Given the description of an element on the screen output the (x, y) to click on. 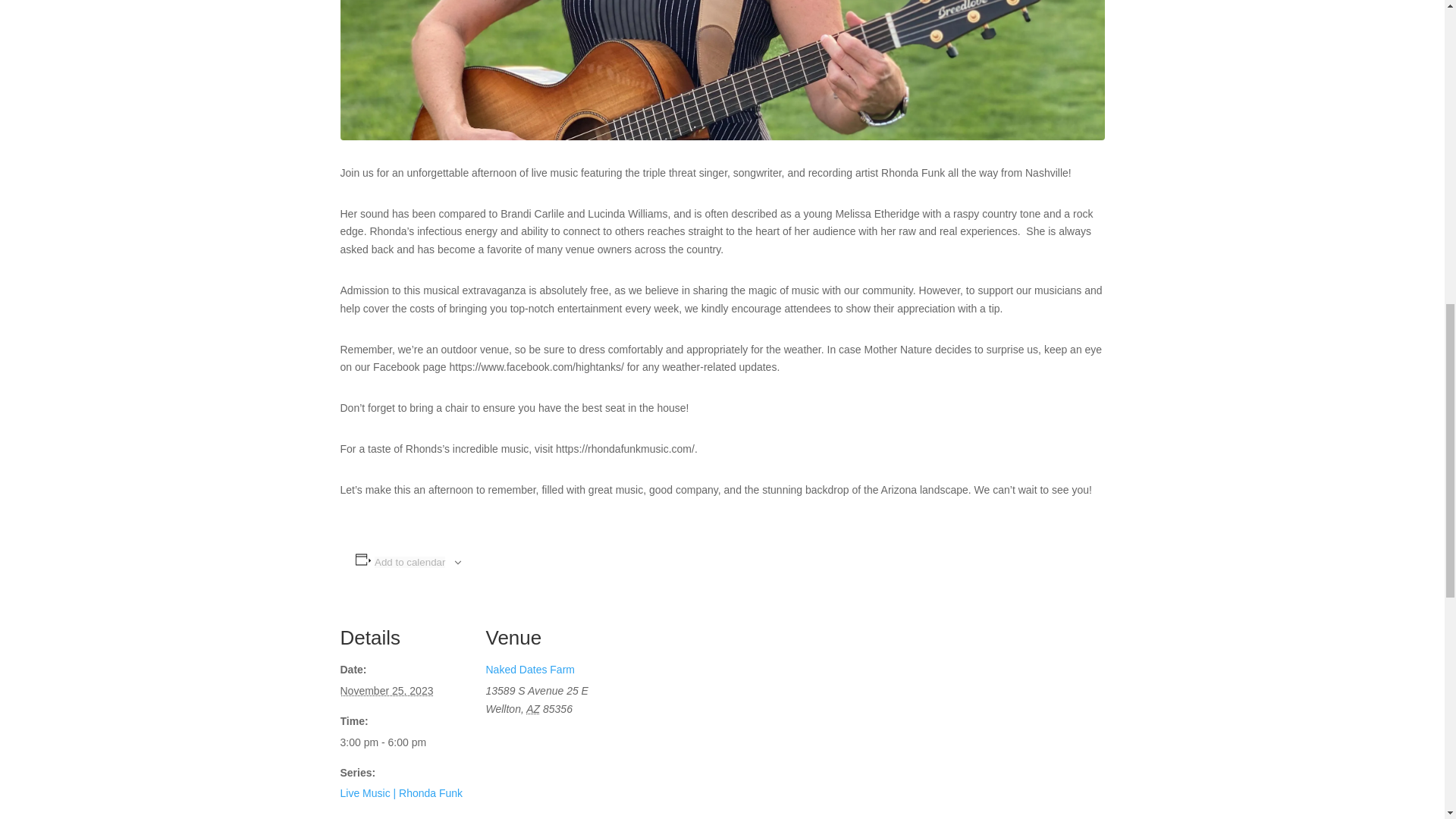
2023-11-25 (403, 742)
Arizona (532, 708)
2023-11-25 (385, 690)
Naked Dates Farm (528, 669)
Add to calendar (409, 562)
